Given the description of an element on the screen output the (x, y) to click on. 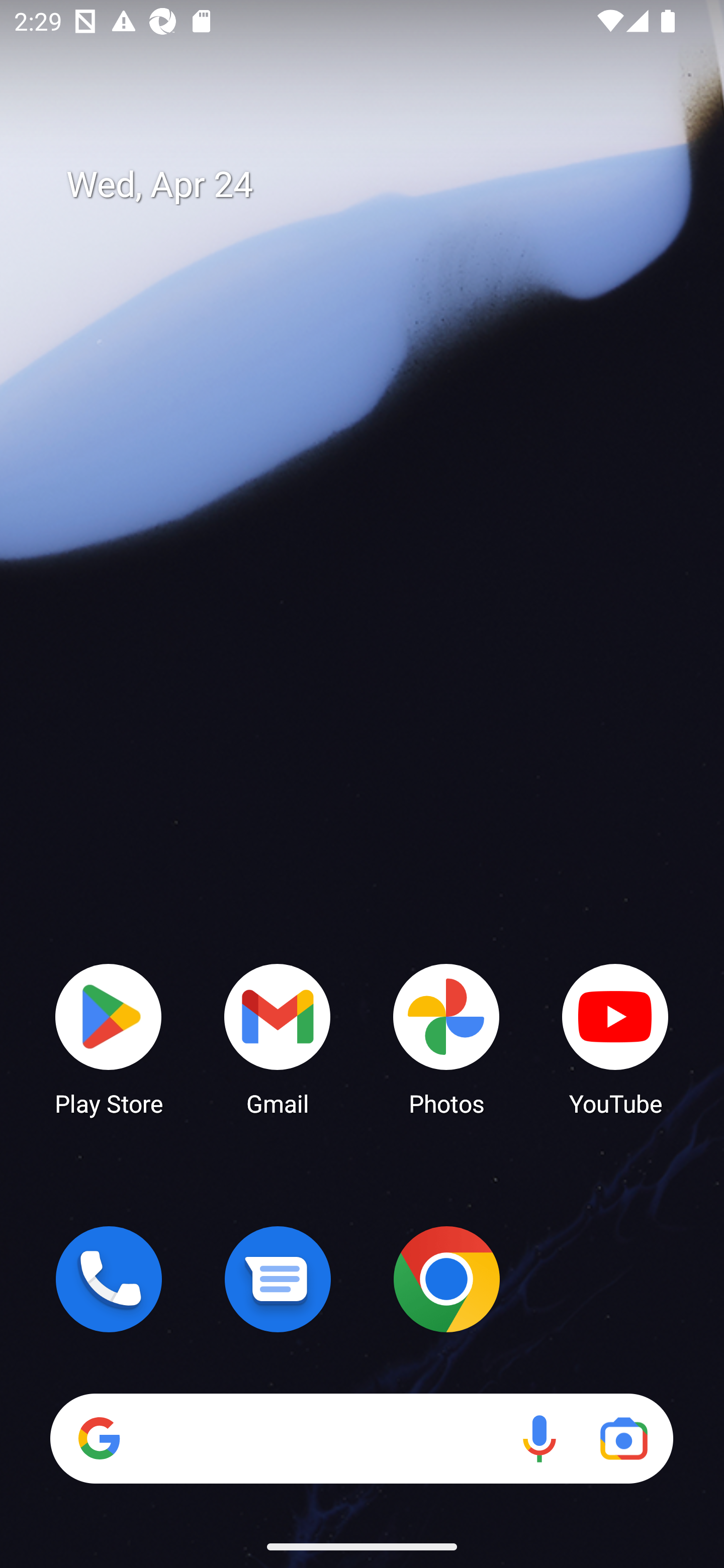
Wed, Apr 24 (375, 184)
Play Store (108, 1038)
Gmail (277, 1038)
Photos (445, 1038)
YouTube (615, 1038)
Phone (108, 1279)
Messages (277, 1279)
Chrome (446, 1279)
Search Voice search Google Lens (361, 1438)
Voice search (539, 1438)
Google Lens (623, 1438)
